Given the description of an element on the screen output the (x, y) to click on. 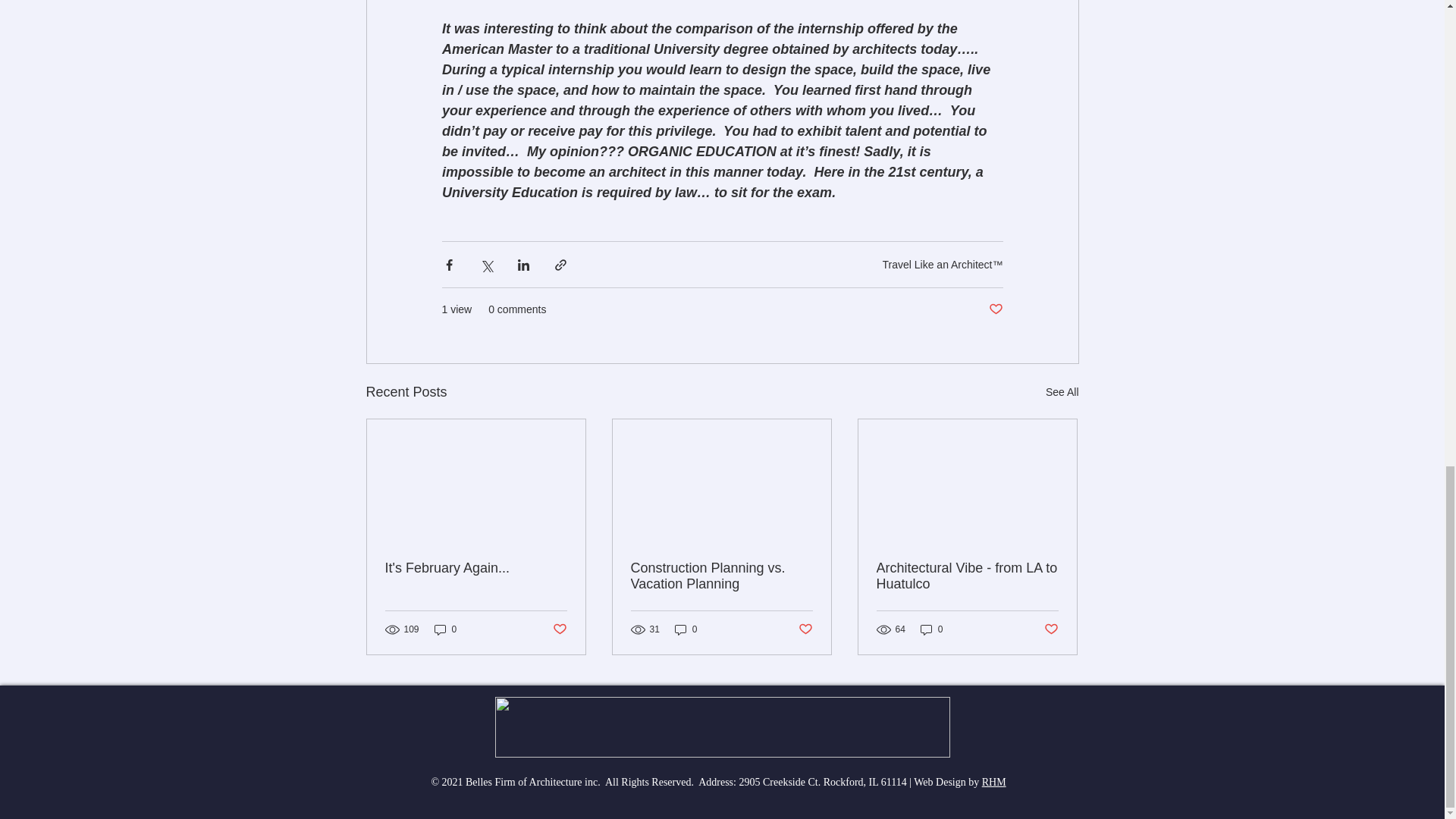
white logo.png (722, 726)
Post not marked as liked (995, 309)
